Given the description of an element on the screen output the (x, y) to click on. 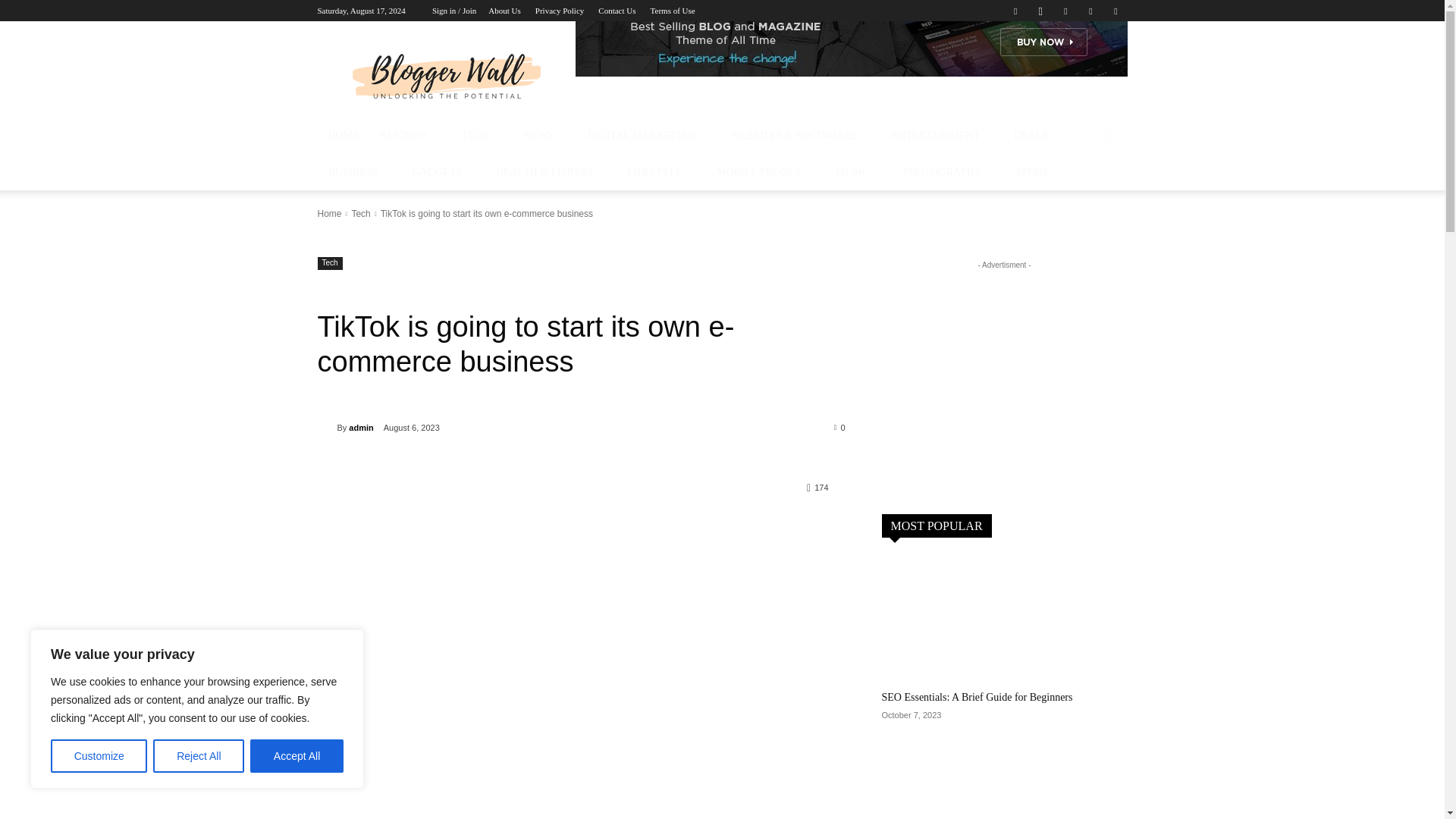
Facebook (1015, 10)
Instagram (1040, 10)
Youtube (1114, 10)
Vimeo (1090, 10)
Twitter (1065, 10)
Customize (98, 756)
Accept All (296, 756)
Reject All (198, 756)
